Given the description of an element on the screen output the (x, y) to click on. 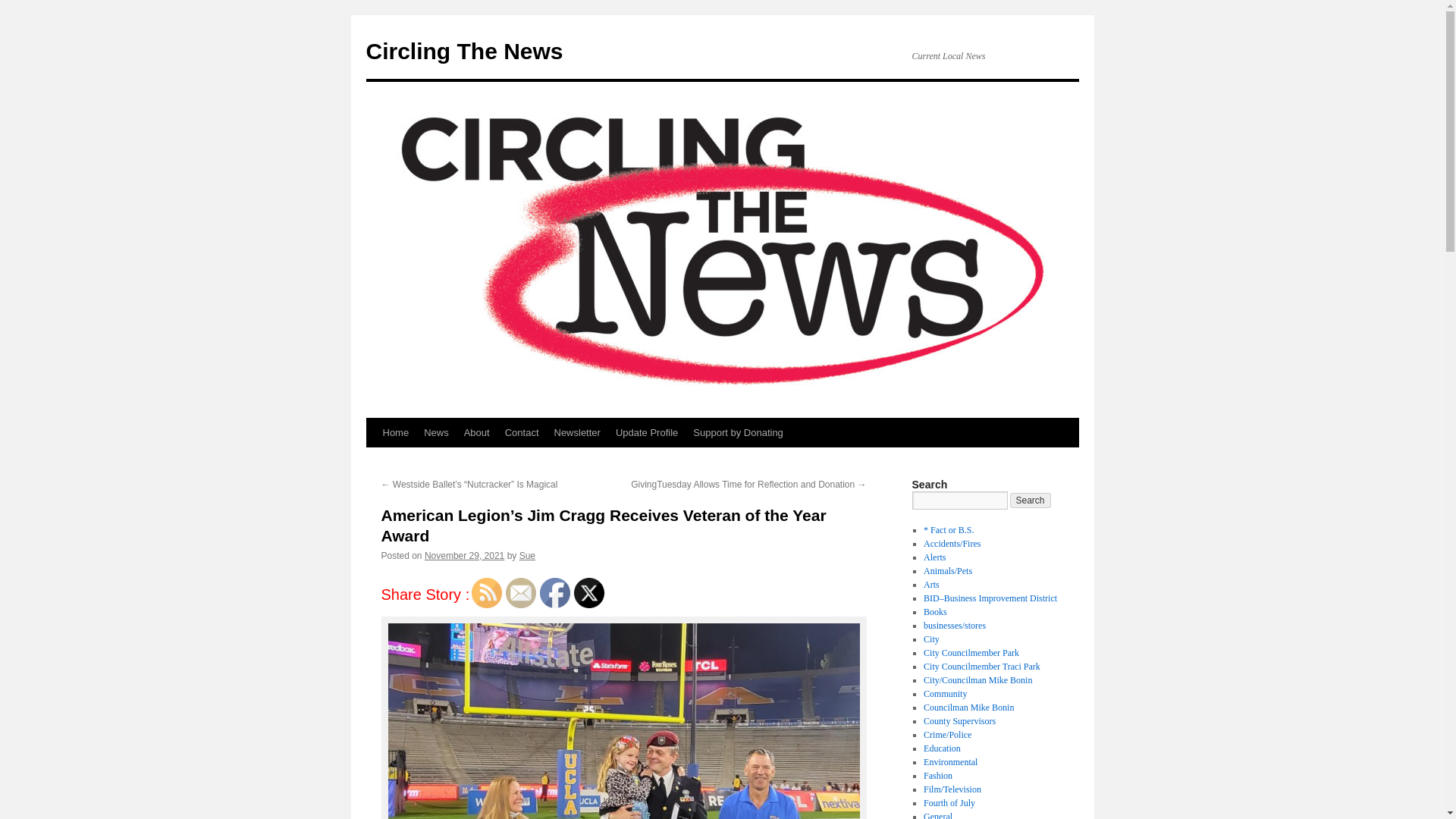
Contact (522, 432)
Home (395, 432)
View all posts by Sue (527, 555)
News (436, 432)
Follow by Email (520, 593)
Circling The News (463, 50)
City (931, 638)
Newsletter (576, 432)
City Councilmember Traci Park (982, 665)
About (477, 432)
